Given the description of an element on the screen output the (x, y) to click on. 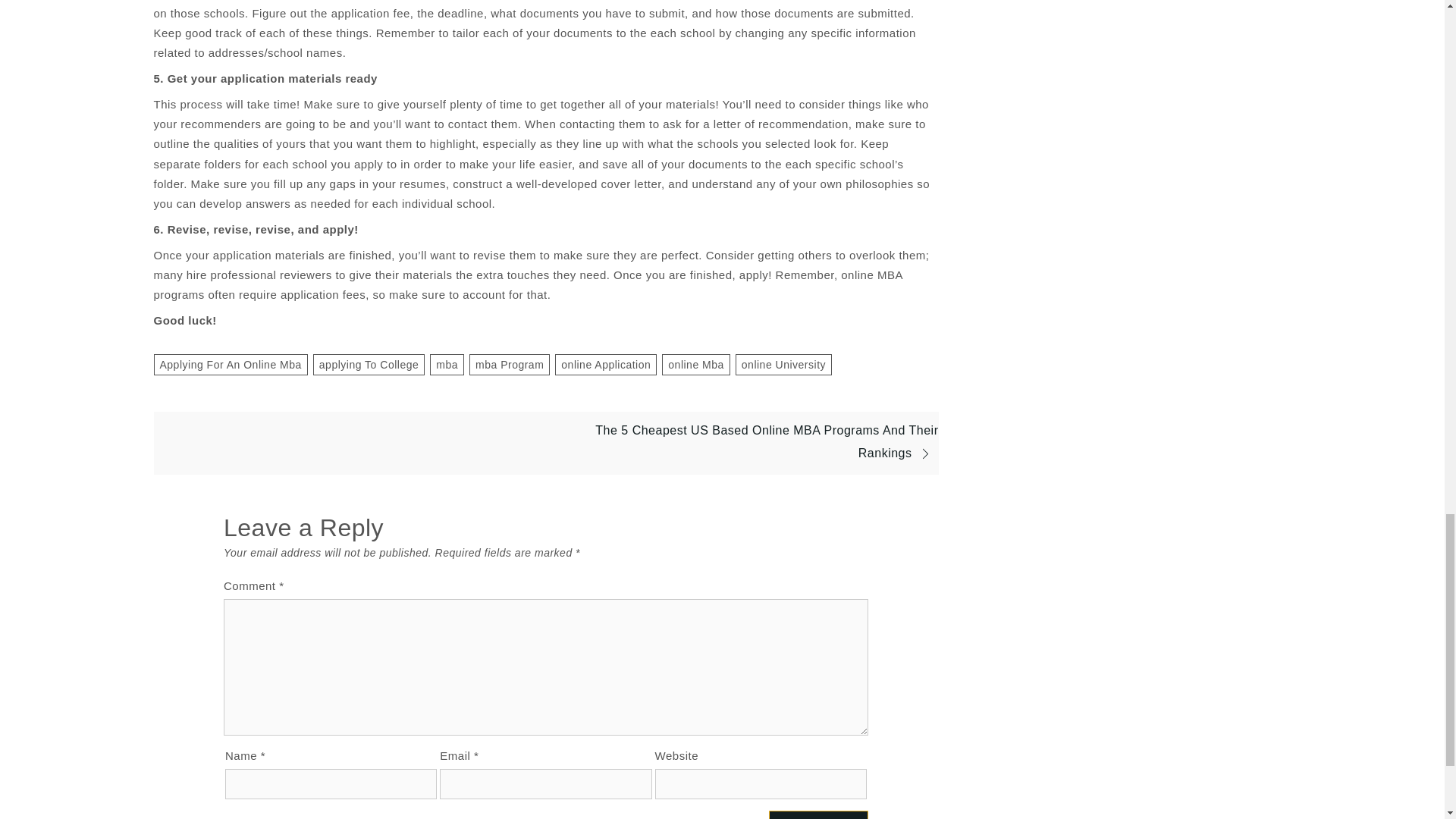
Mba (446, 364)
Applying To College (369, 364)
Post Comment (817, 814)
Online Application (605, 364)
Online Mba (696, 364)
Mba Program (509, 364)
Applying For An Online Mba (229, 364)
Online University (783, 364)
Post Comment (817, 814)
